Given the description of an element on the screen output the (x, y) to click on. 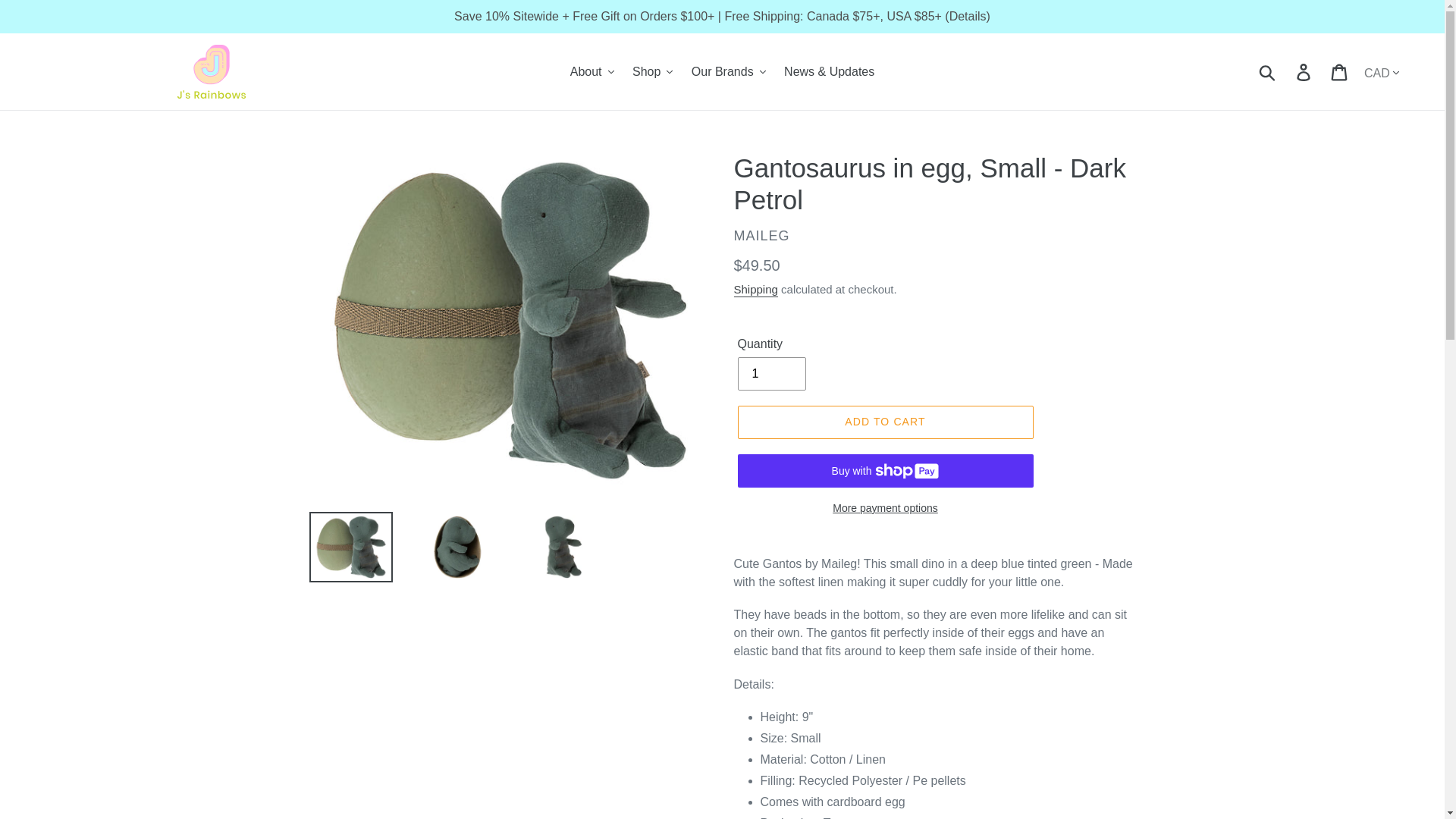
1 (770, 373)
